Given the description of an element on the screen output the (x, y) to click on. 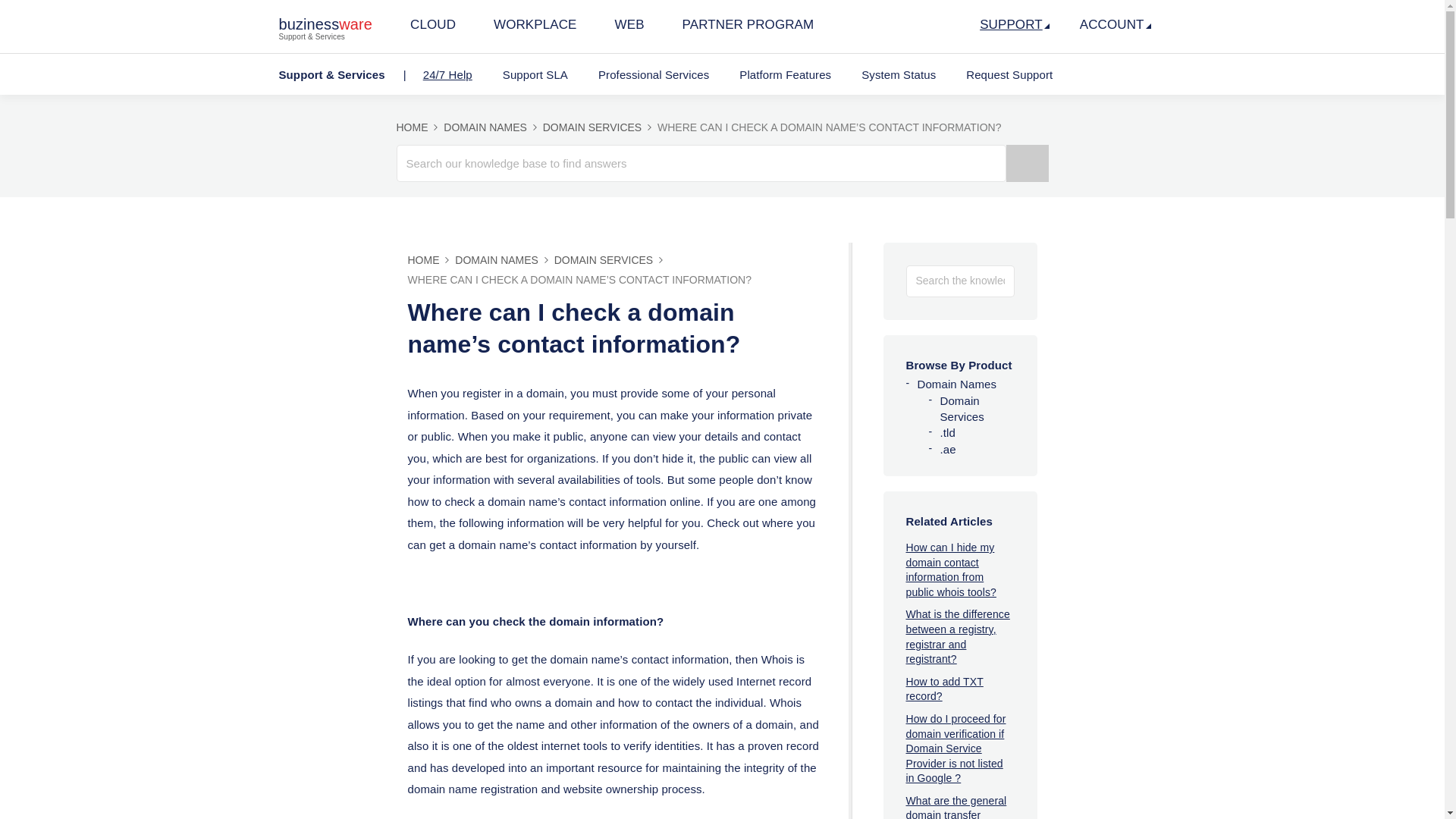
Request Support (1008, 74)
DOMAIN SERVICES (598, 127)
WEB (629, 29)
DOMAIN NAMES (502, 259)
Support SLA (535, 74)
HOME (429, 259)
PARTNER PROGRAM (748, 29)
ACCOUNT (1114, 29)
WORKPLACE (534, 29)
CLOUD (433, 29)
Professional Services (653, 74)
Platform Features (784, 74)
DOMAIN SERVICES (609, 259)
SUPPORT (1013, 29)
DOMAIN NAMES (492, 127)
